Given the description of an element on the screen output the (x, y) to click on. 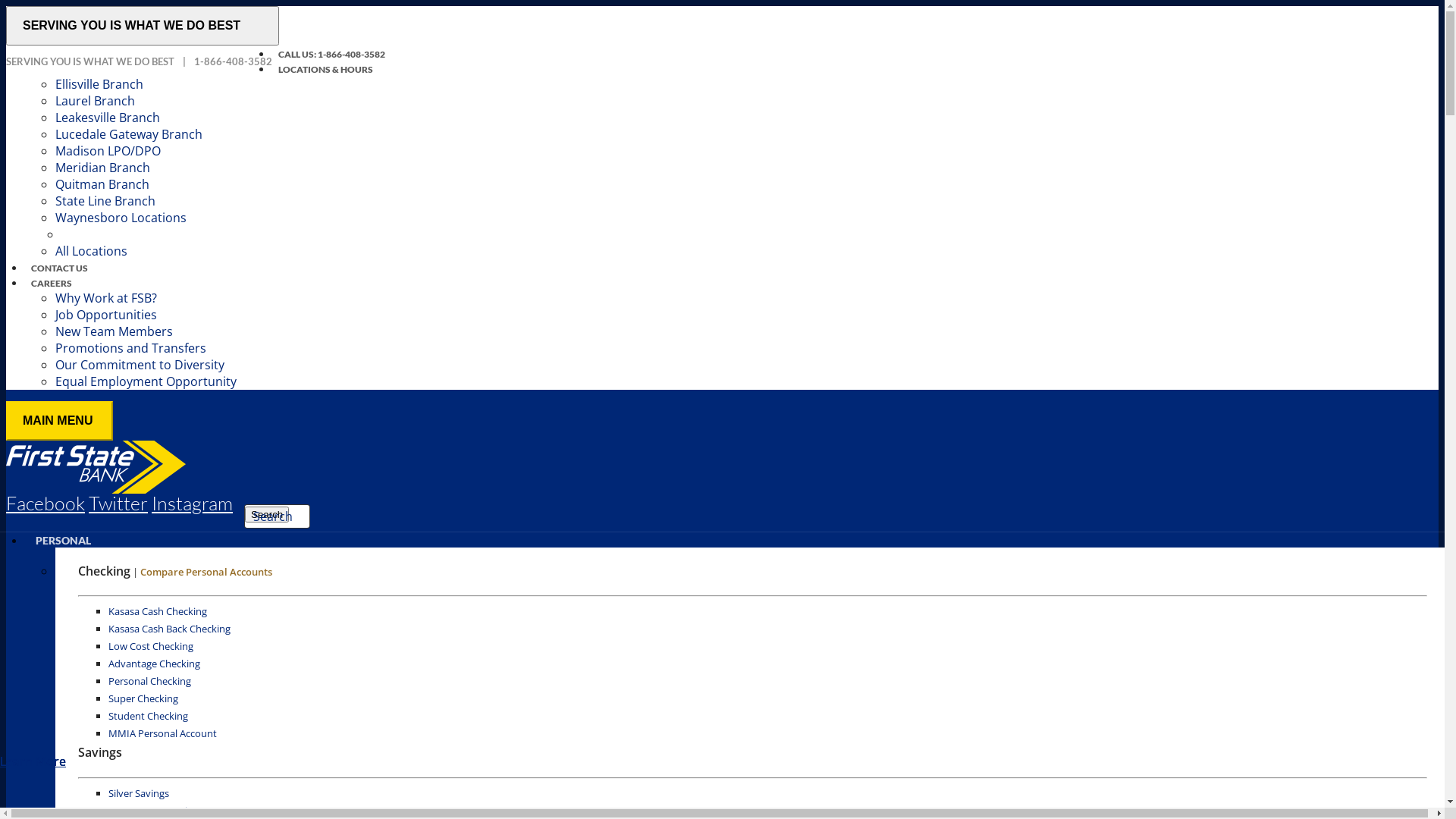
Laurel Branch Element type: text (94, 100)
Ellisville Branch Element type: text (99, 83)
MAIN MENU Element type: text (59, 420)
Kasasa Cash Back Checking Element type: text (169, 628)
Leakesville Branch Element type: text (107, 117)
Instagram Element type: text (191, 502)
Waynesboro Locations Element type: text (120, 217)
Equal Employment Opportunity Element type: text (145, 381)
Search Element type: text (266, 514)
Job Opportunities Element type: text (105, 314)
CALL US: 1-866-408-3582 Element type: text (331, 54)
Learn More Element type: text (32, 761)
Twitter Element type: text (117, 502)
Facebook Element type: text (45, 502)
MMIA Personal Account Element type: text (162, 733)
Personal Checking Element type: text (149, 680)
Why Work at FSB? Element type: text (105, 297)
Lucedale Gateway Branch Element type: text (128, 133)
New Team Members Element type: text (113, 331)
Meridian Branch Element type: text (102, 167)
LOCATIONS & HOURS Element type: text (325, 69)
Silver Savings Element type: text (138, 793)
CONTACT US Element type: text (59, 268)
Super Checking Element type: text (143, 698)
Student Checking Element type: text (148, 715)
Quitman Branch Element type: text (102, 183)
CAREERS Element type: text (51, 283)
Madison LPO/DPO Element type: text (107, 150)
Kasasa Cash Checking Element type: text (157, 611)
PERSONAL Element type: text (63, 540)
First State Bank Logo Element type: hover (95, 466)
Low Cost Checking Element type: text (150, 645)
Kasasa Saver Savings Element type: text (155, 810)
State Line Branch Element type: text (105, 200)
SERVING YOU IS WHAT WE DO BEST Element type: text (142, 25)
Advantage Checking Element type: text (154, 663)
All Locations Element type: text (91, 250)
Our Commitment to Diversity Element type: text (139, 364)
Compare Personal Accounts Element type: text (206, 571)
Promotions and Transfers Element type: text (130, 347)
